Given the description of an element on the screen output the (x, y) to click on. 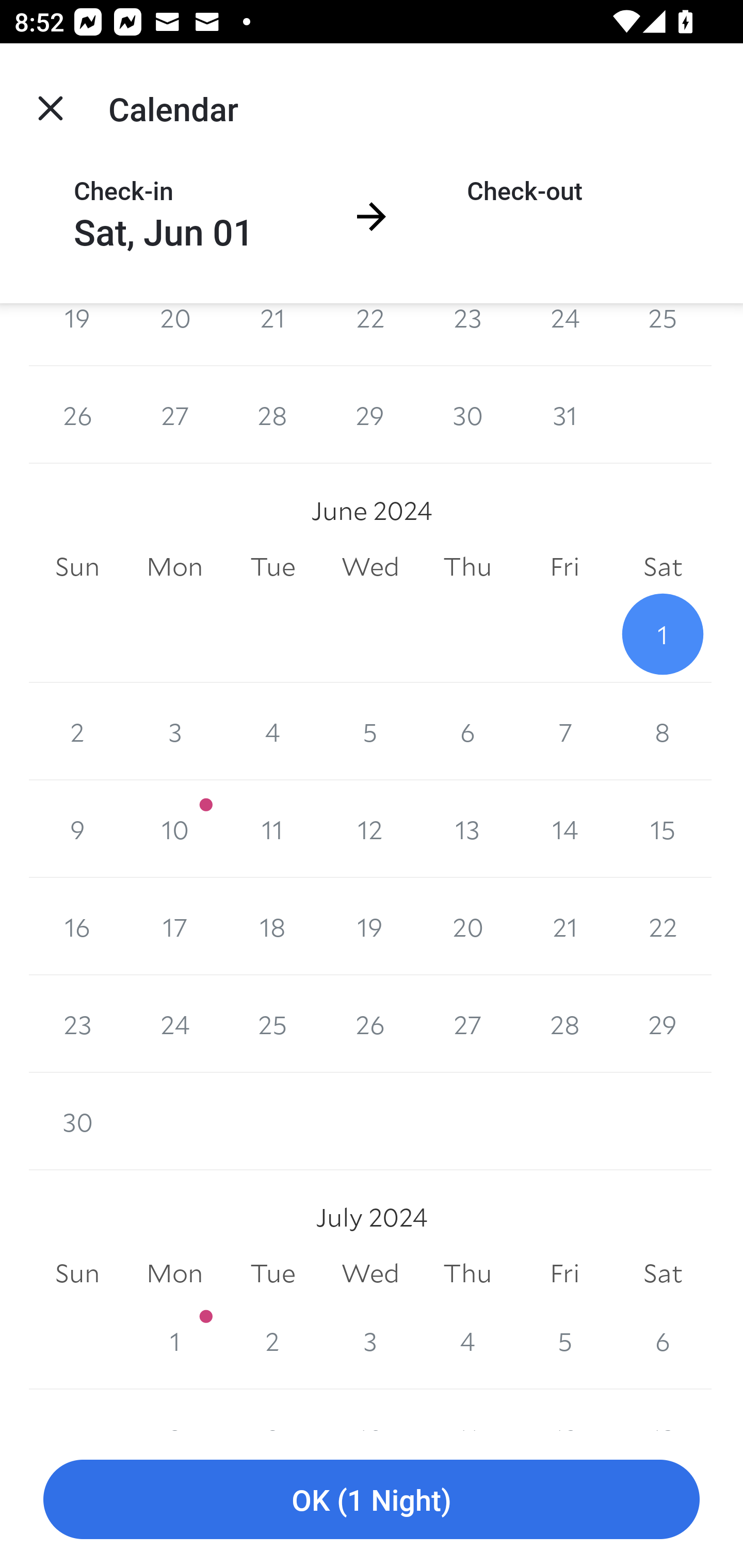
19 19 May 2024 (77, 334)
20 20 May 2024 (174, 334)
21 21 May 2024 (272, 334)
22 22 May 2024 (370, 334)
23 23 May 2024 (467, 334)
24 24 May 2024 (564, 334)
25 25 May 2024 (662, 334)
26 26 May 2024 (77, 415)
27 27 May 2024 (174, 415)
28 28 May 2024 (272, 415)
29 29 May 2024 (370, 415)
30 30 May 2024 (467, 415)
31 31 May 2024 (564, 415)
Sun (77, 566)
Mon (174, 566)
Tue (272, 566)
Wed (370, 566)
Thu (467, 566)
Fri (564, 566)
Sat (662, 566)
1 1 June 2024 (662, 633)
2 2 June 2024 (77, 731)
3 3 June 2024 (174, 731)
4 4 June 2024 (272, 731)
5 5 June 2024 (370, 731)
6 6 June 2024 (467, 731)
7 7 June 2024 (564, 731)
8 8 June 2024 (662, 731)
9 9 June 2024 (77, 829)
10 10 June 2024 (174, 829)
11 11 June 2024 (272, 829)
12 12 June 2024 (370, 829)
13 13 June 2024 (467, 829)
14 14 June 2024 (564, 829)
15 15 June 2024 (662, 829)
16 16 June 2024 (77, 926)
17 17 June 2024 (174, 926)
18 18 June 2024 (272, 926)
19 19 June 2024 (370, 926)
20 20 June 2024 (467, 926)
21 21 June 2024 (564, 926)
22 22 June 2024 (662, 926)
23 23 June 2024 (77, 1023)
24 24 June 2024 (174, 1023)
25 25 June 2024 (272, 1023)
26 26 June 2024 (370, 1023)
27 27 June 2024 (467, 1023)
28 28 June 2024 (564, 1023)
29 29 June 2024 (662, 1023)
30 30 June 2024 (77, 1120)
Sun (77, 1273)
Mon (174, 1273)
Tue (272, 1273)
Wed (370, 1273)
Thu (467, 1273)
Fri (564, 1273)
Sat (662, 1273)
1 1 July 2024 (174, 1340)
2 2 July 2024 (272, 1340)
3 3 July 2024 (370, 1340)
4 4 July 2024 (467, 1340)
5 5 July 2024 (564, 1340)
6 6 July 2024 (662, 1340)
OK (1 Night) (371, 1499)
